Given the description of an element on the screen output the (x, y) to click on. 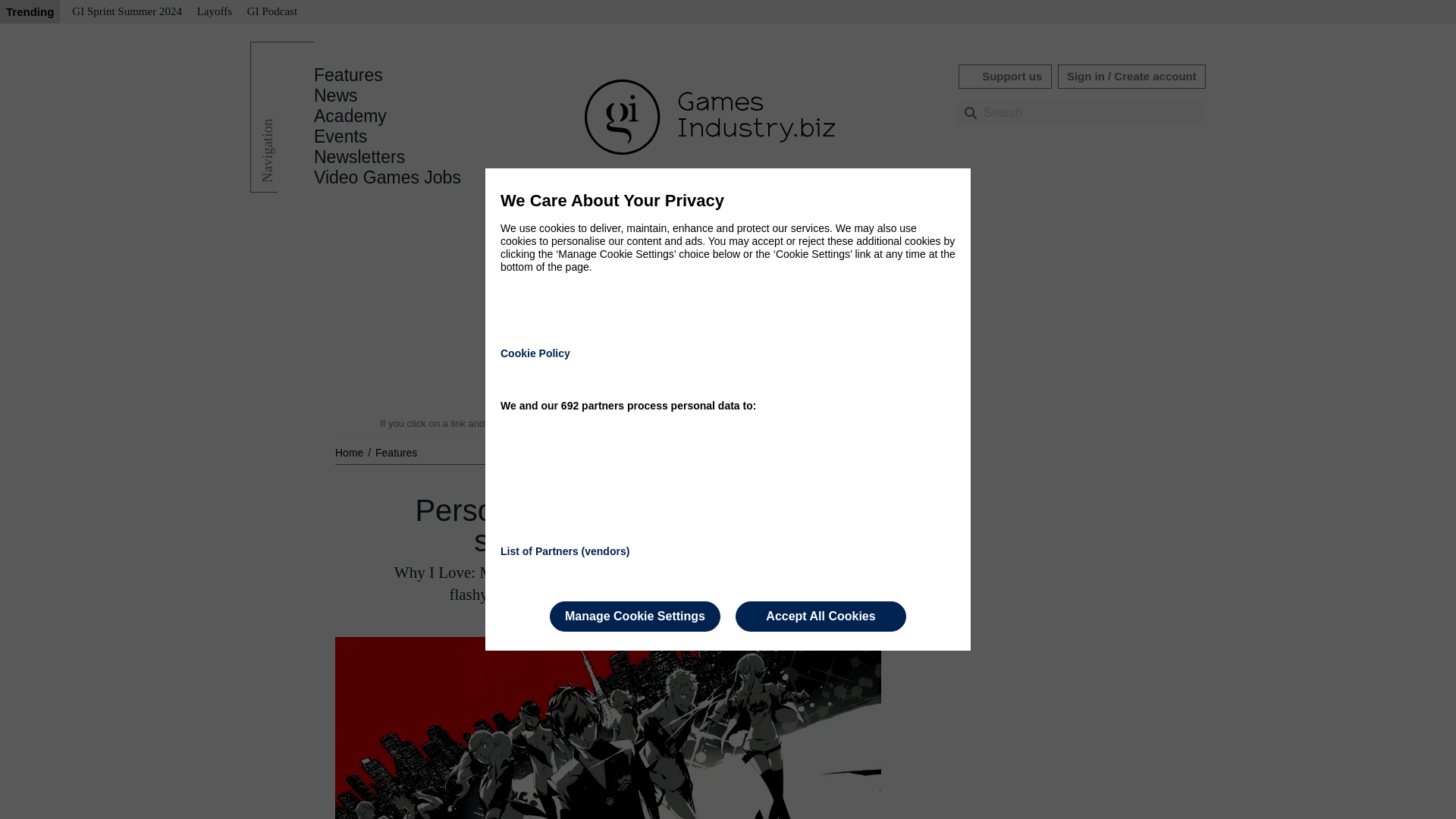
Events (340, 136)
GI Sprint Summer 2024 (126, 11)
Newsletters (359, 157)
Features (348, 75)
Layoffs (214, 11)
GI Podcast (271, 11)
Read our editorial policy (781, 423)
Features (395, 452)
Layoffs (214, 11)
GI Sprint Summer 2024 (126, 11)
Home (350, 452)
Video Games Jobs (387, 177)
GI Podcast (271, 11)
Events (340, 136)
Features (395, 452)
